Given the description of an element on the screen output the (x, y) to click on. 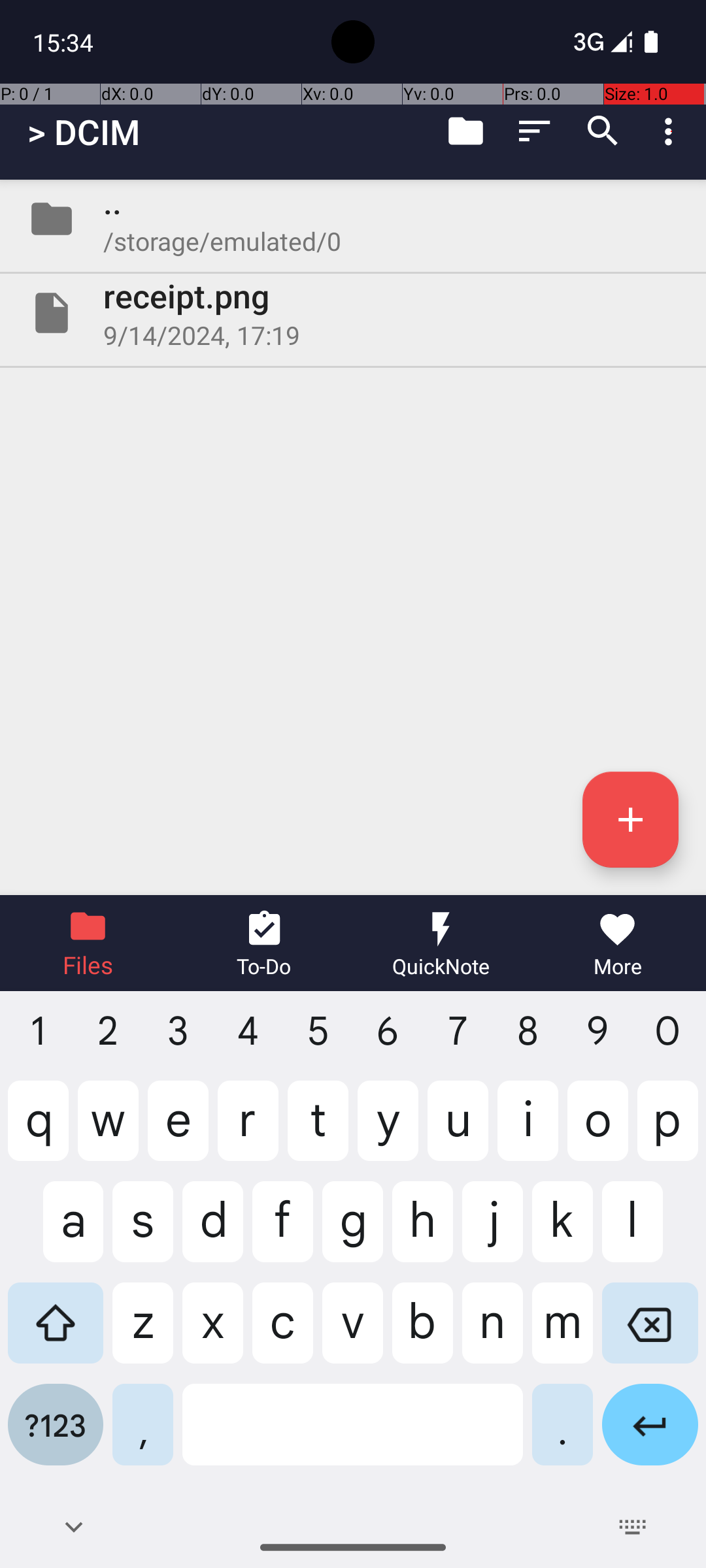
> DCIM Element type: android.widget.TextView (83, 131)
Folder .. 9/14/2024, 16:54 Element type: android.widget.LinearLayout (353, 218)
File receipt.png 9/14/2024, 16:54 Element type: android.widget.LinearLayout (353, 312)
